Given the description of an element on the screen output the (x, y) to click on. 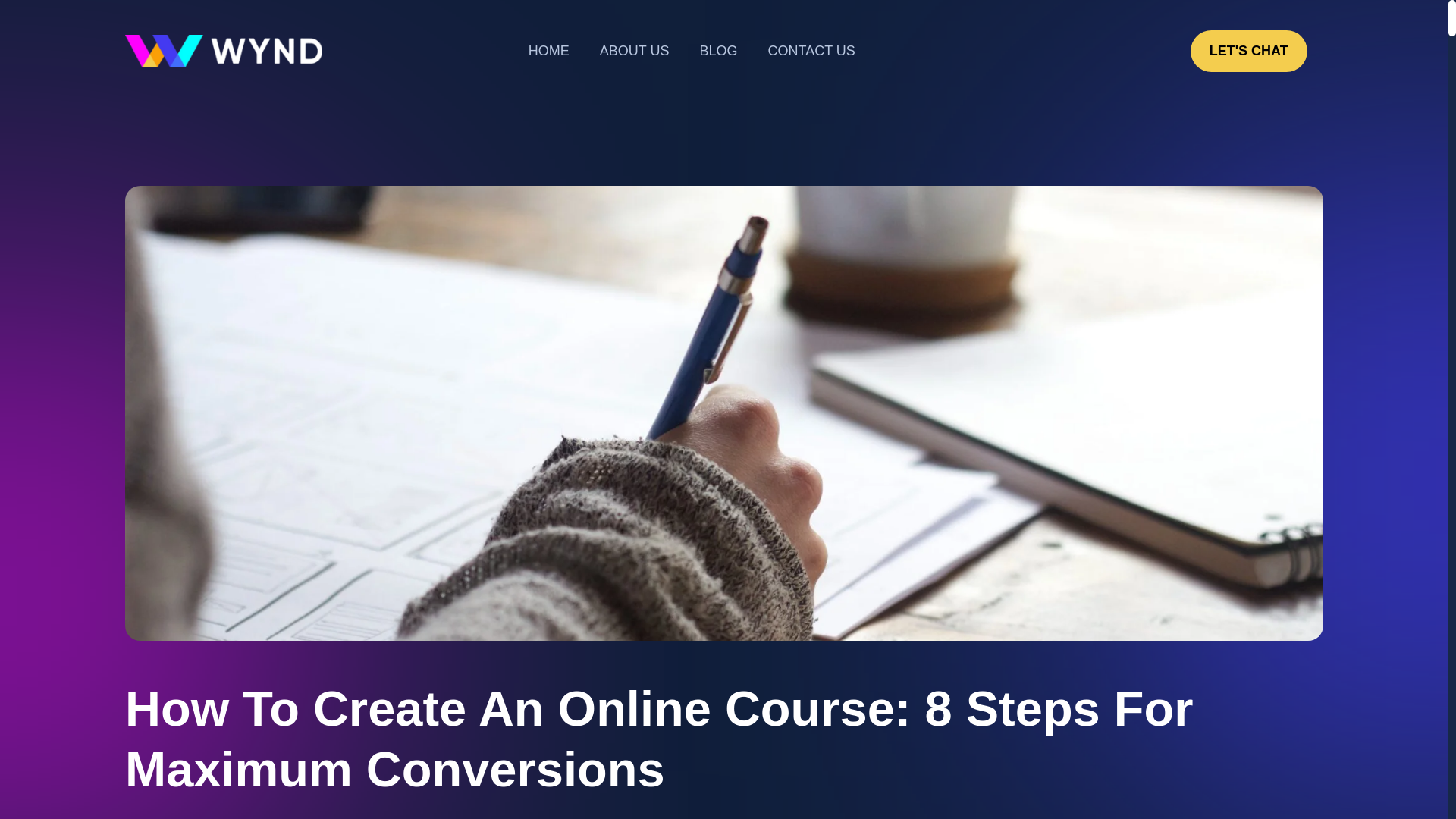
BLOG (718, 51)
LET'S CHAT (1249, 51)
CONTACT US (810, 51)
ABOUT US (634, 51)
HOME (549, 51)
